Given the description of an element on the screen output the (x, y) to click on. 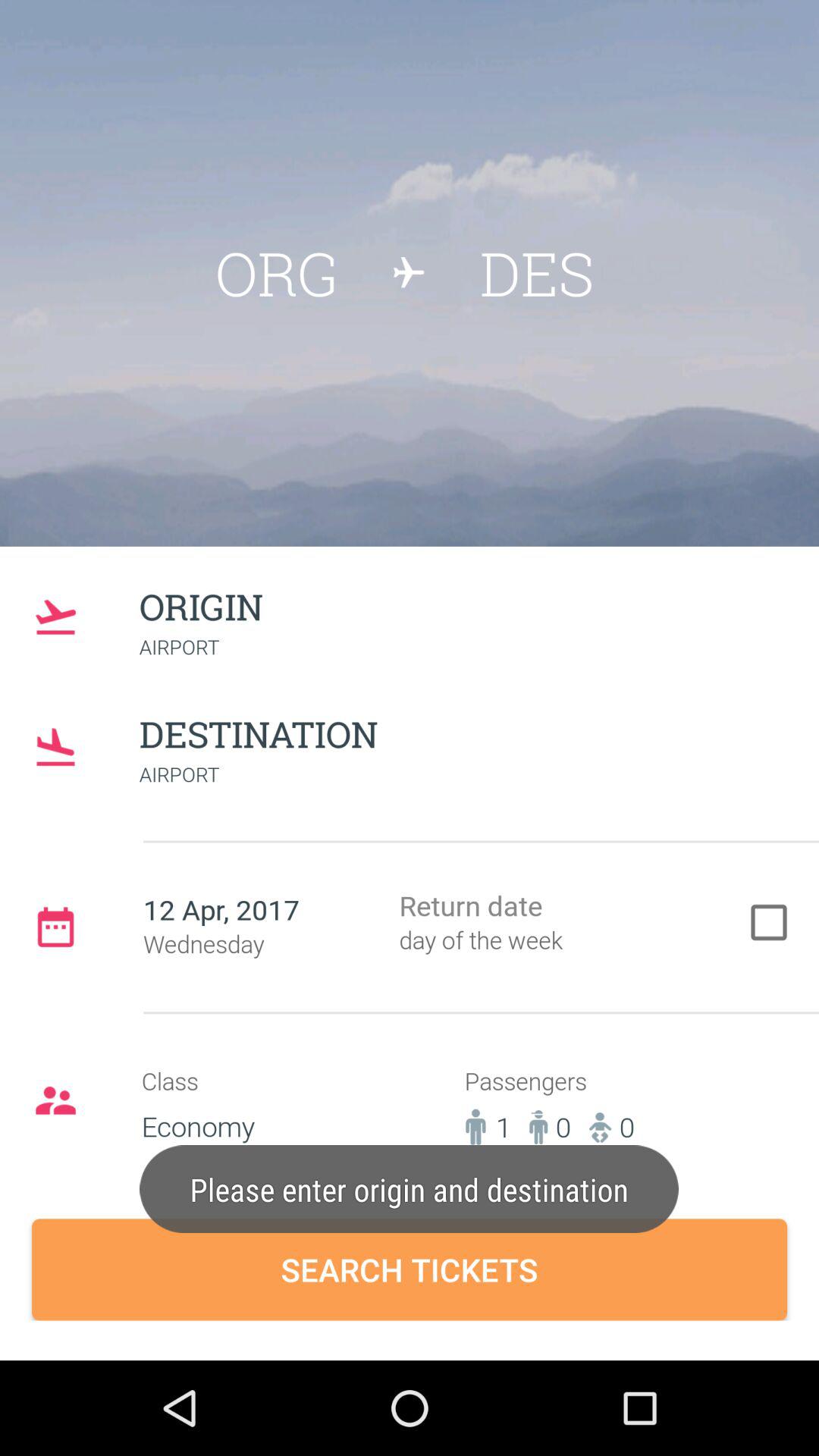
click on the text field of passengers (576, 1113)
click the text field of class (258, 1113)
click on the check box of return date (575, 925)
